Given the description of an element on the screen output the (x, y) to click on. 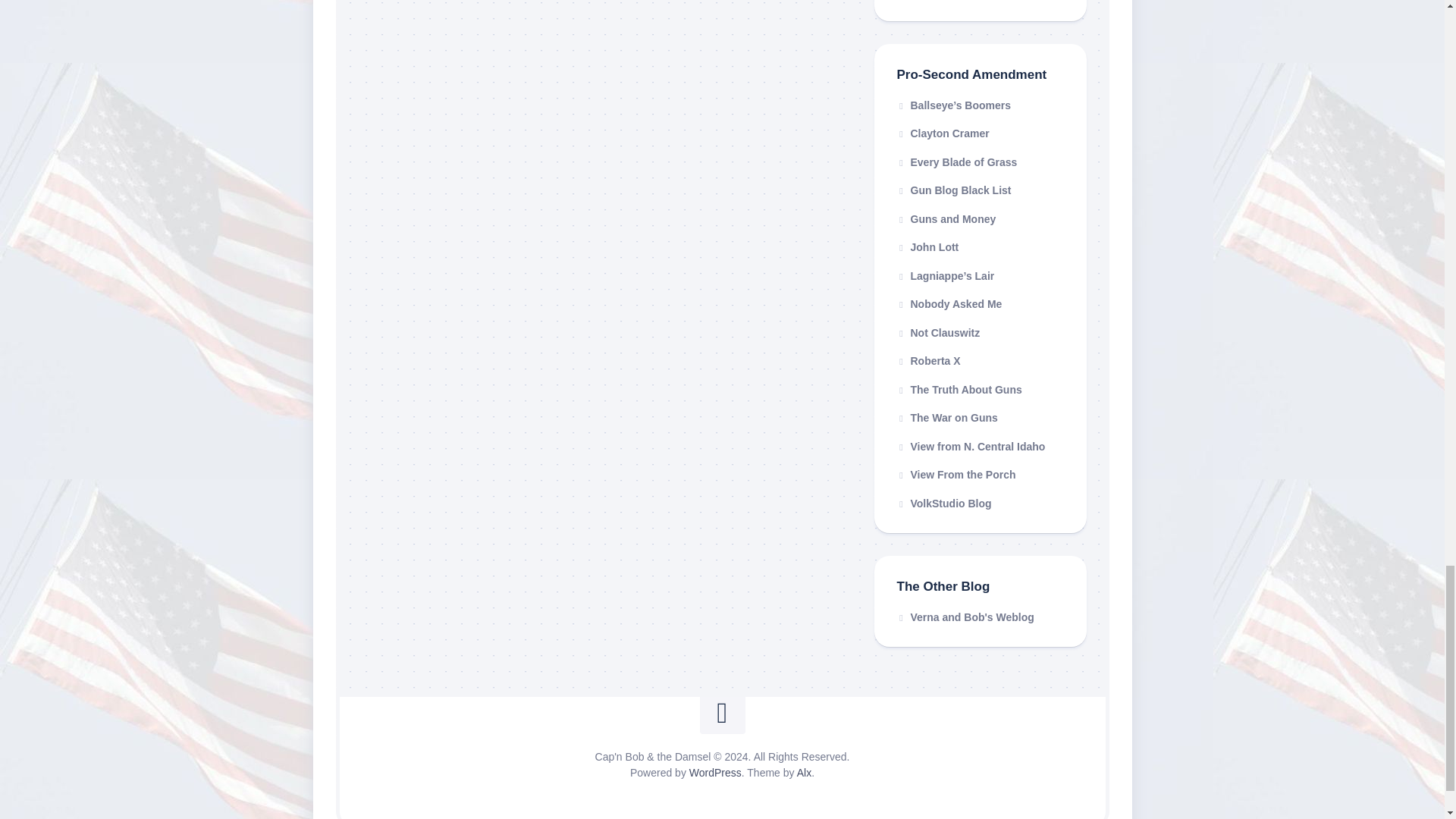
Notes from the resistance (946, 417)
The Other Blog (964, 616)
